Given the description of an element on the screen output the (x, y) to click on. 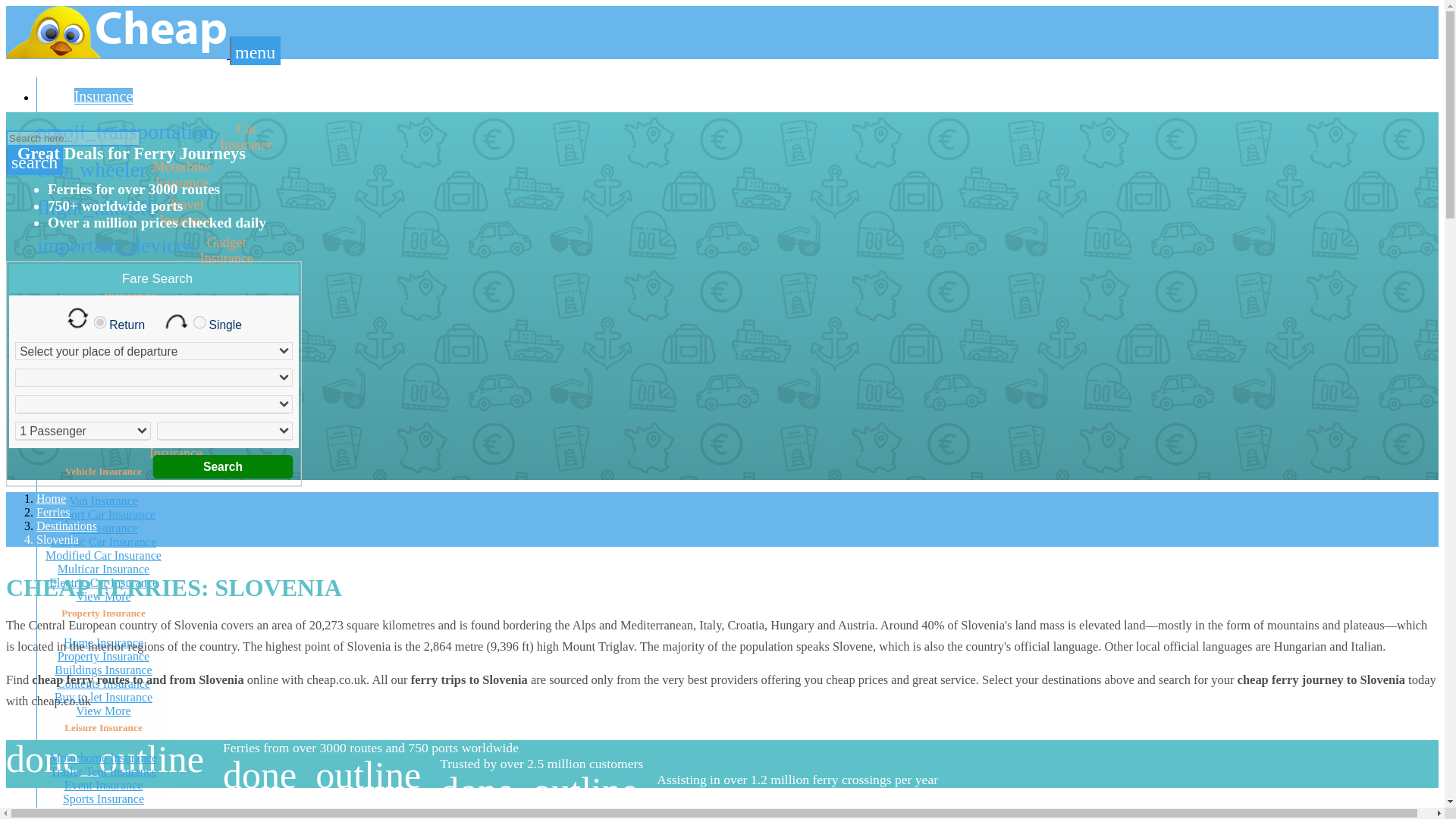
Sports Insurance (103, 798)
Van Insurance (103, 500)
Buy to let Insurance (103, 354)
Modified Car Insurance (103, 288)
View More (103, 697)
Electric Car Insurance (103, 554)
Import Car Insurance (103, 321)
menu (103, 710)
Home Insurance (103, 582)
Quad Insurance (102, 513)
Property Insurance (255, 50)
Buildings Insurance (103, 642)
